Given the description of an element on the screen output the (x, y) to click on. 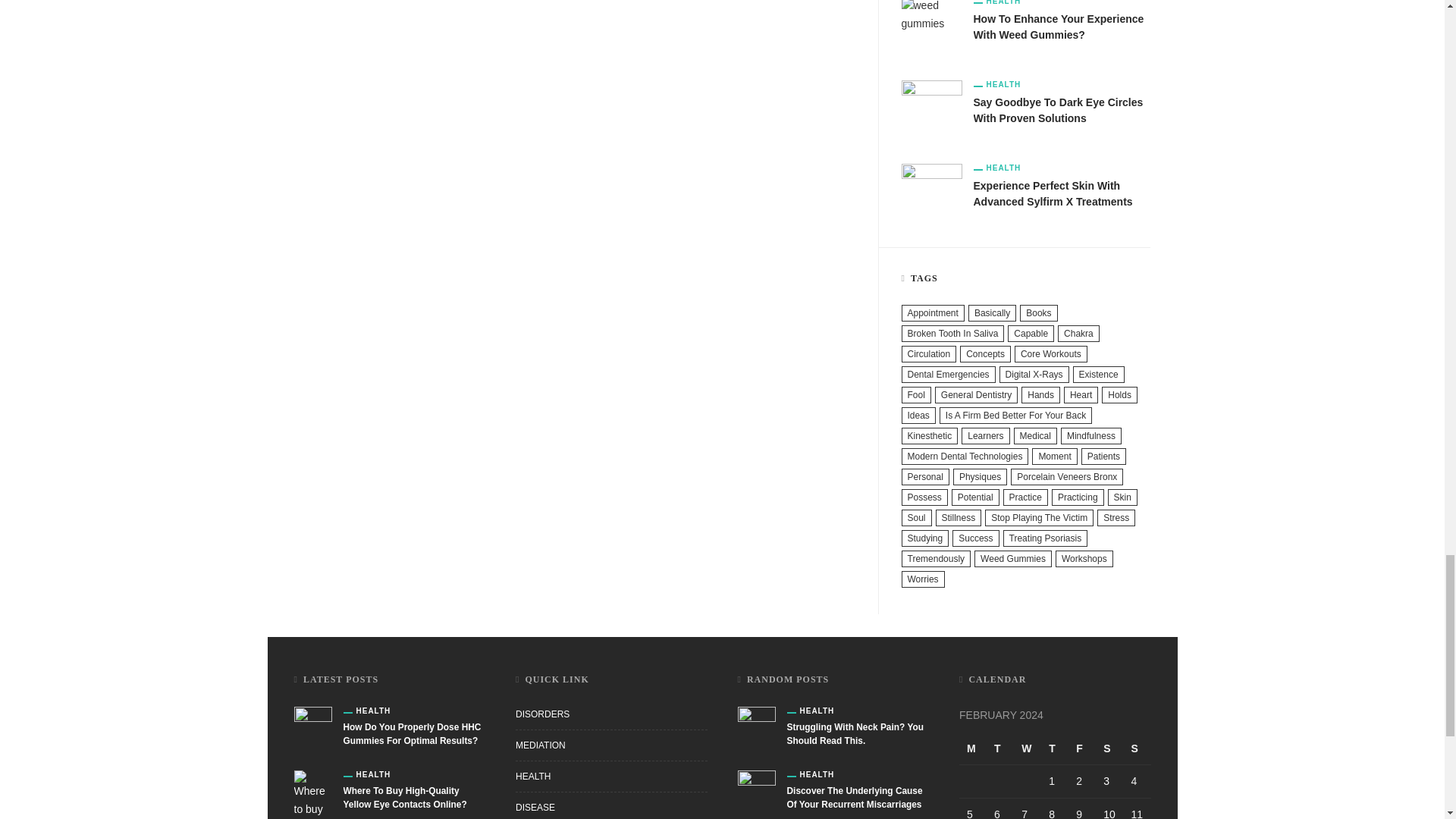
How to enhance your experience with weed gummies? (930, 26)
Say Goodbye to Dark Eye Circles with Proven Solutions (930, 110)
Health (998, 2)
How to enhance your experience with weed gummies? (1059, 26)
